Given the description of an element on the screen output the (x, y) to click on. 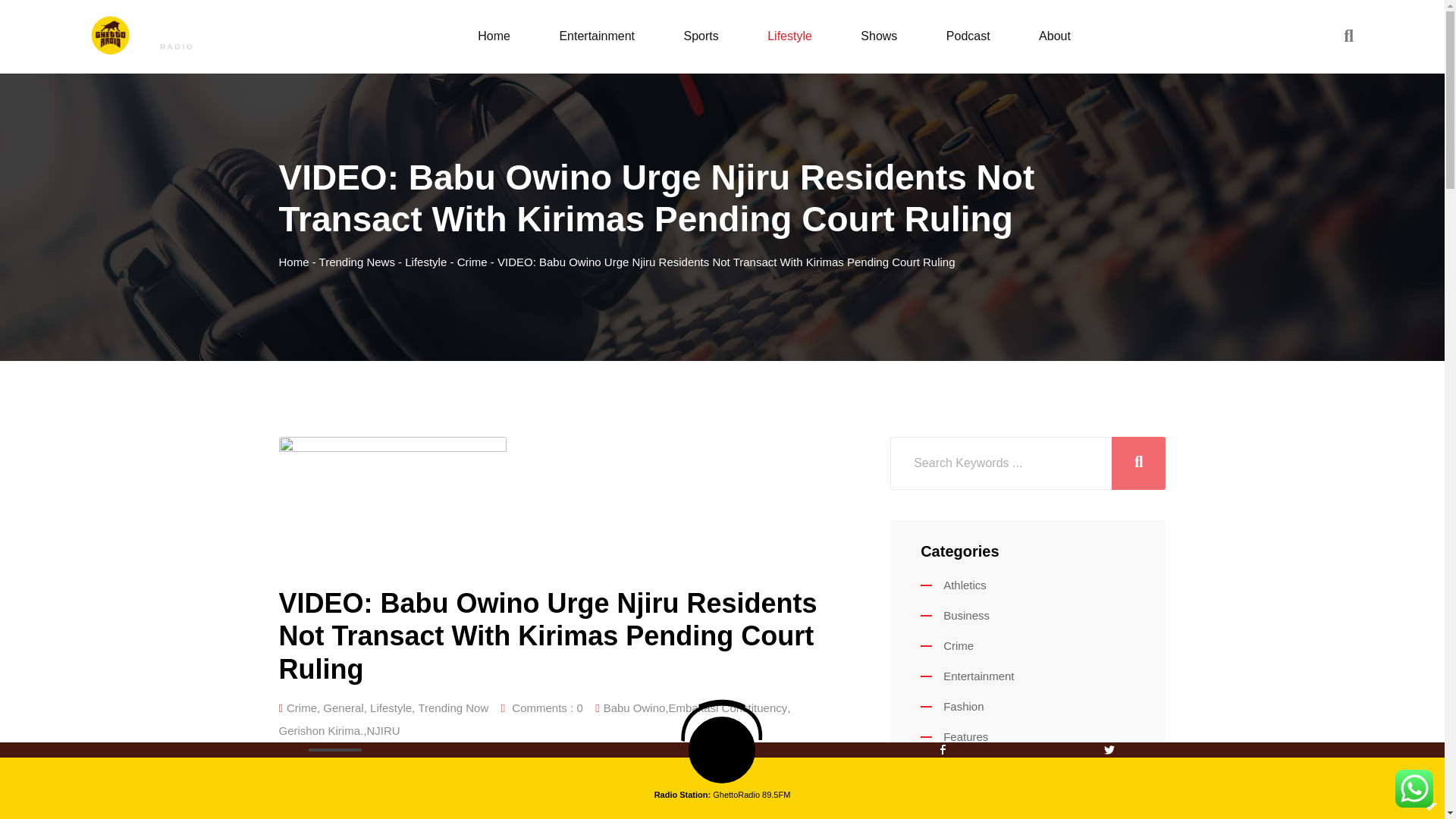
Sports (701, 36)
Entertainment (596, 36)
Home (493, 36)
Go to Trending News. (356, 261)
Lifestyle (789, 36)
Go to Ghetto Radio. (293, 261)
Go to the Crime category archives. (472, 261)
Go to the Lifestyle category archives. (425, 261)
